Given the description of an element on the screen output the (x, y) to click on. 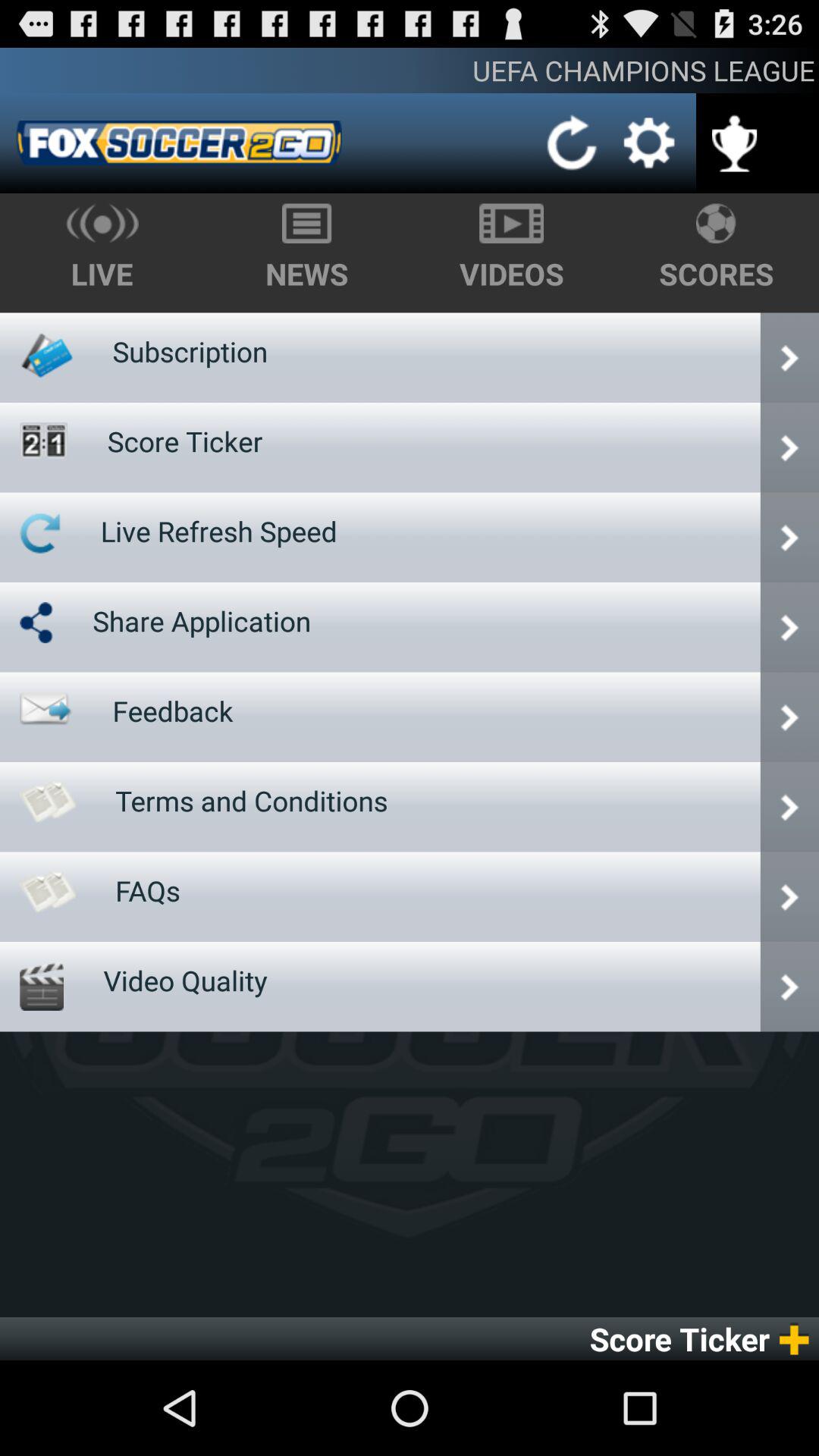
launch video quality app (185, 980)
